Given the description of an element on the screen output the (x, y) to click on. 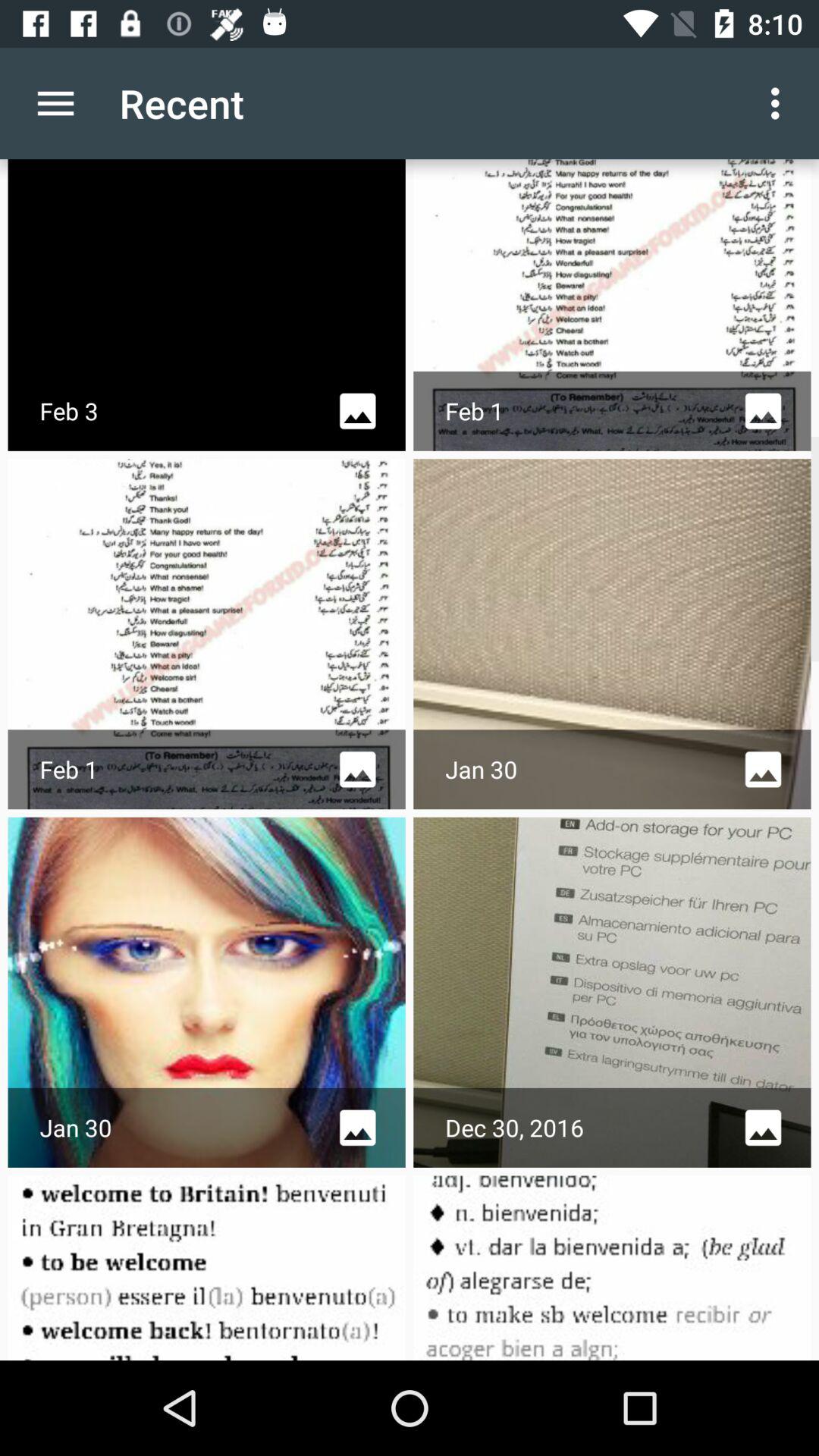
turn off the icon next to the recent item (55, 103)
